Given the description of an element on the screen output the (x, y) to click on. 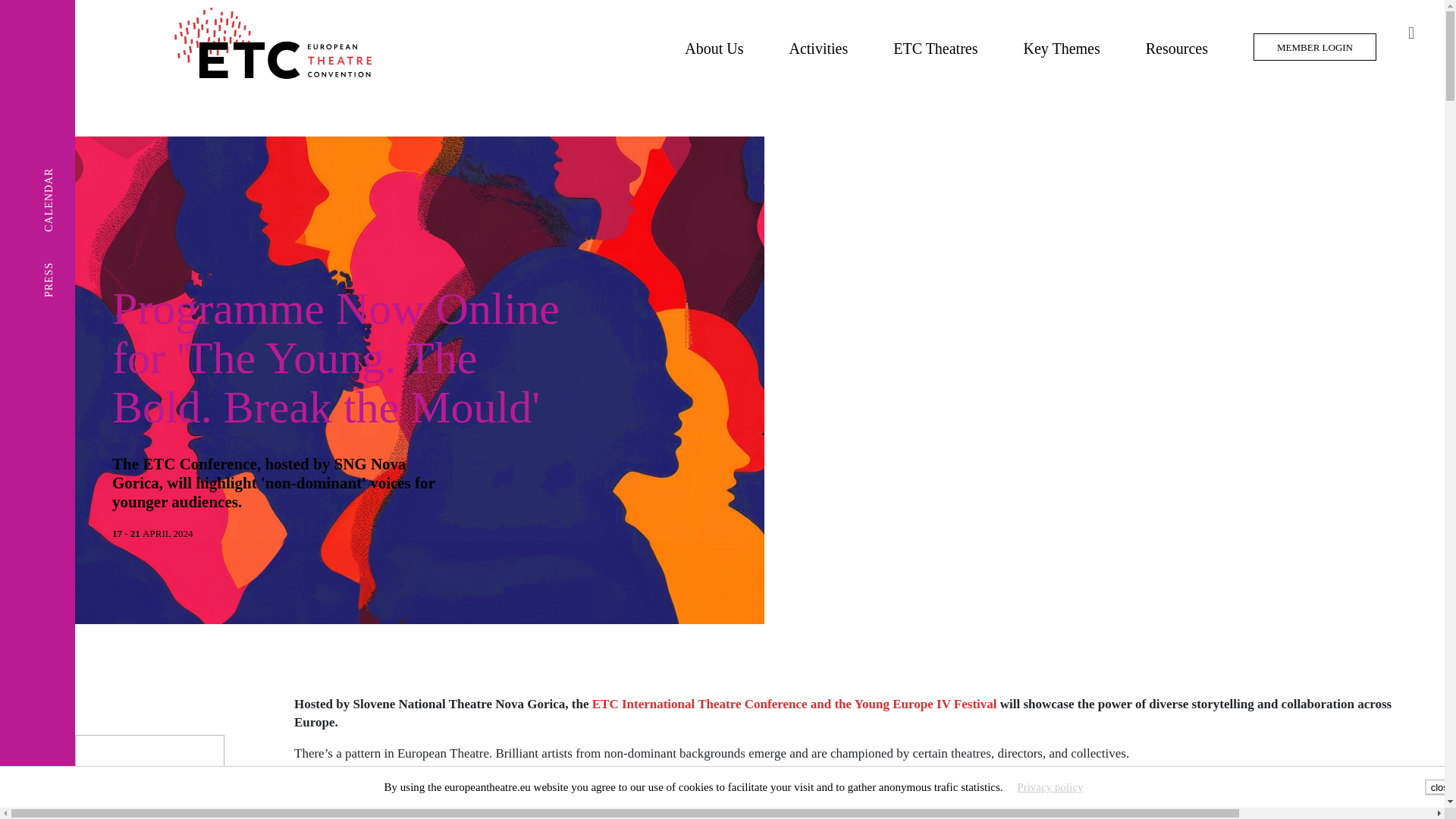
MEMBER LOGIN (1314, 46)
